Given the description of an element on the screen output the (x, y) to click on. 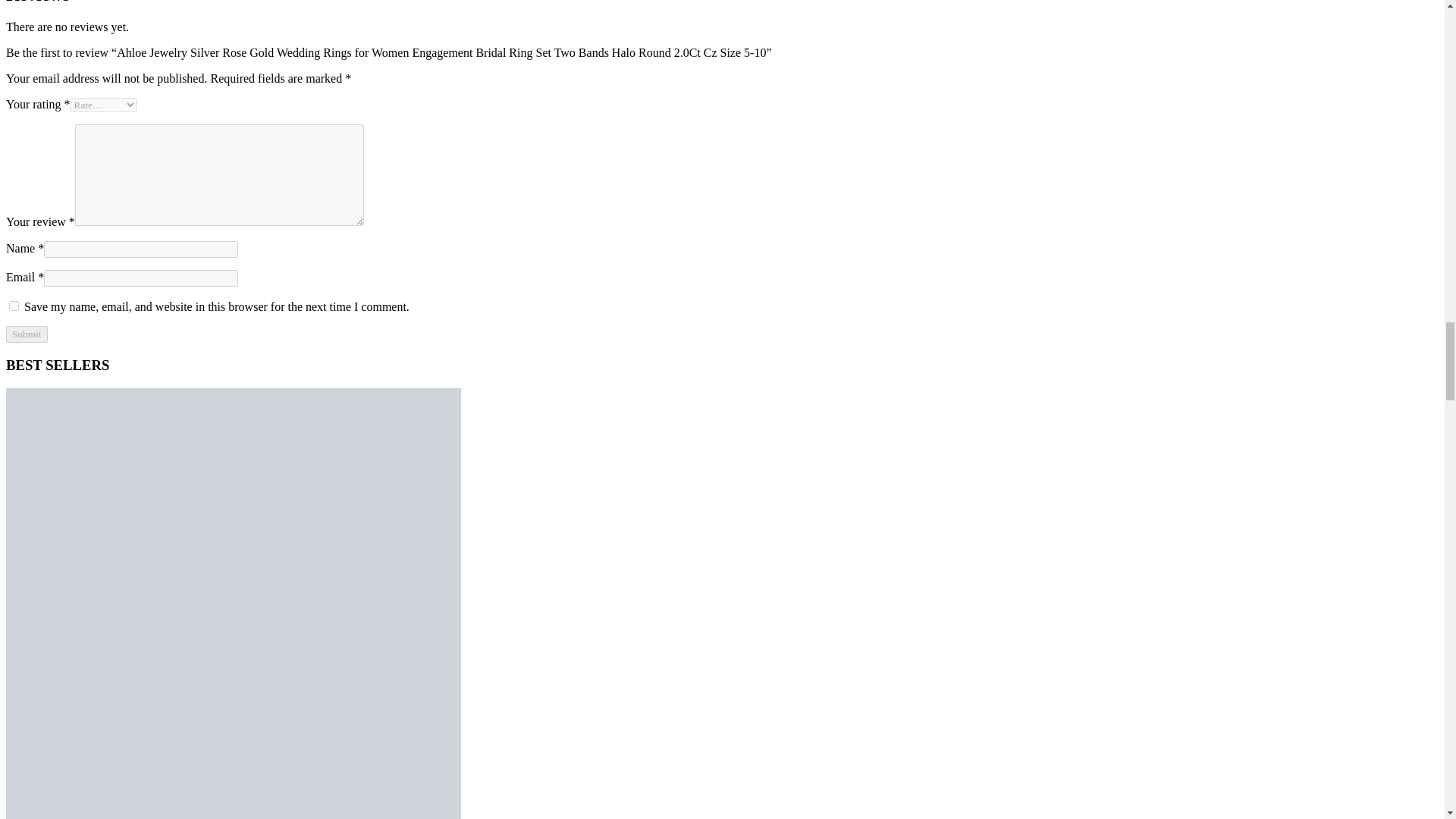
yes (13, 306)
Submit (26, 334)
